Given the description of an element on the screen output the (x, y) to click on. 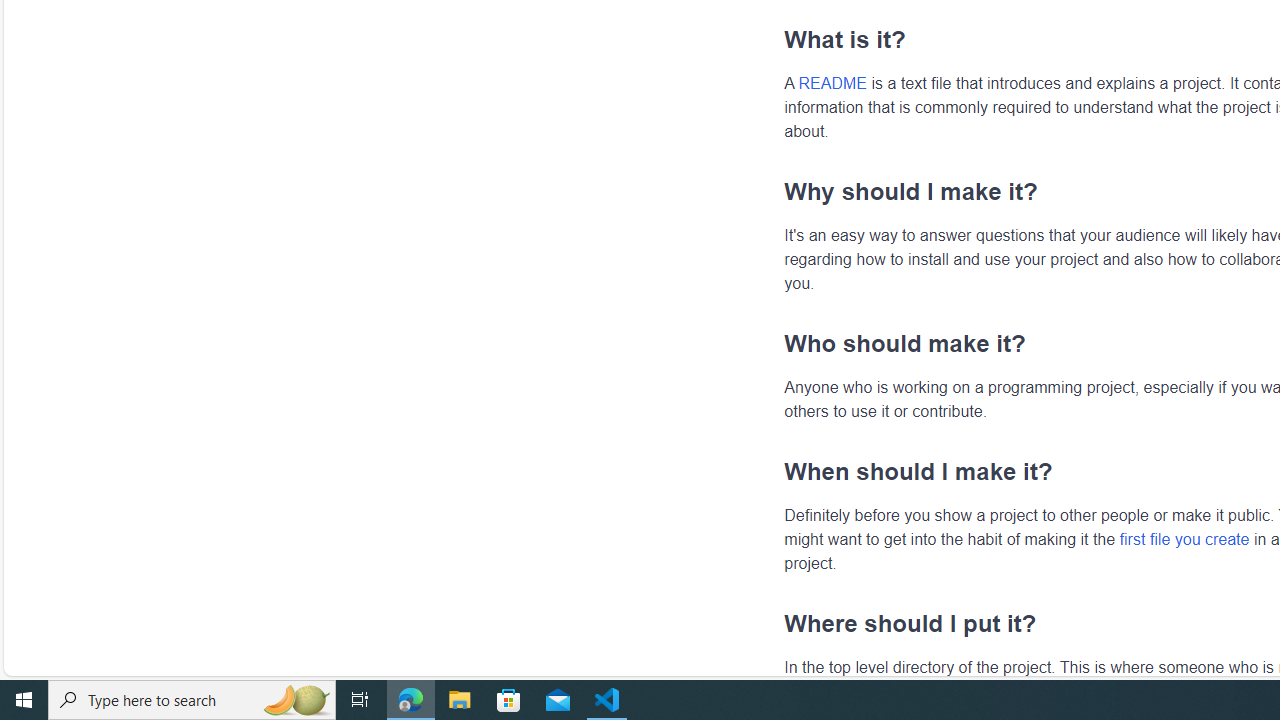
README (831, 83)
first file you create (1184, 538)
Anchor (774, 623)
